Given the description of an element on the screen output the (x, y) to click on. 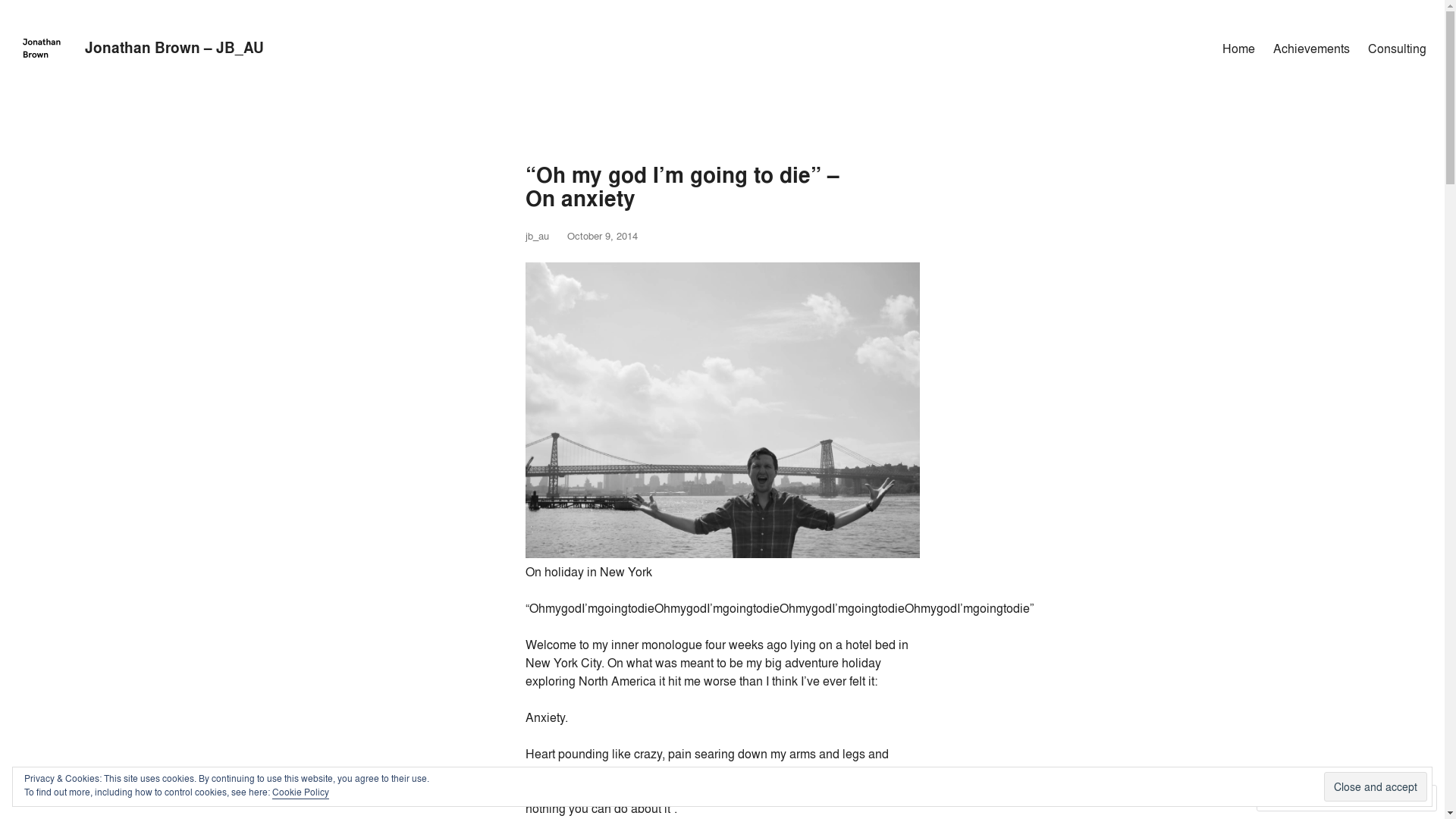
Consulting Element type: text (1397, 48)
Home Element type: text (1238, 48)
Follow Element type: text (1373, 797)
Cookie Policy Element type: text (300, 791)
Comment Element type: text (1297, 797)
Close and accept Element type: text (1375, 786)
Achievements Element type: text (1311, 48)
